Given the description of an element on the screen output the (x, y) to click on. 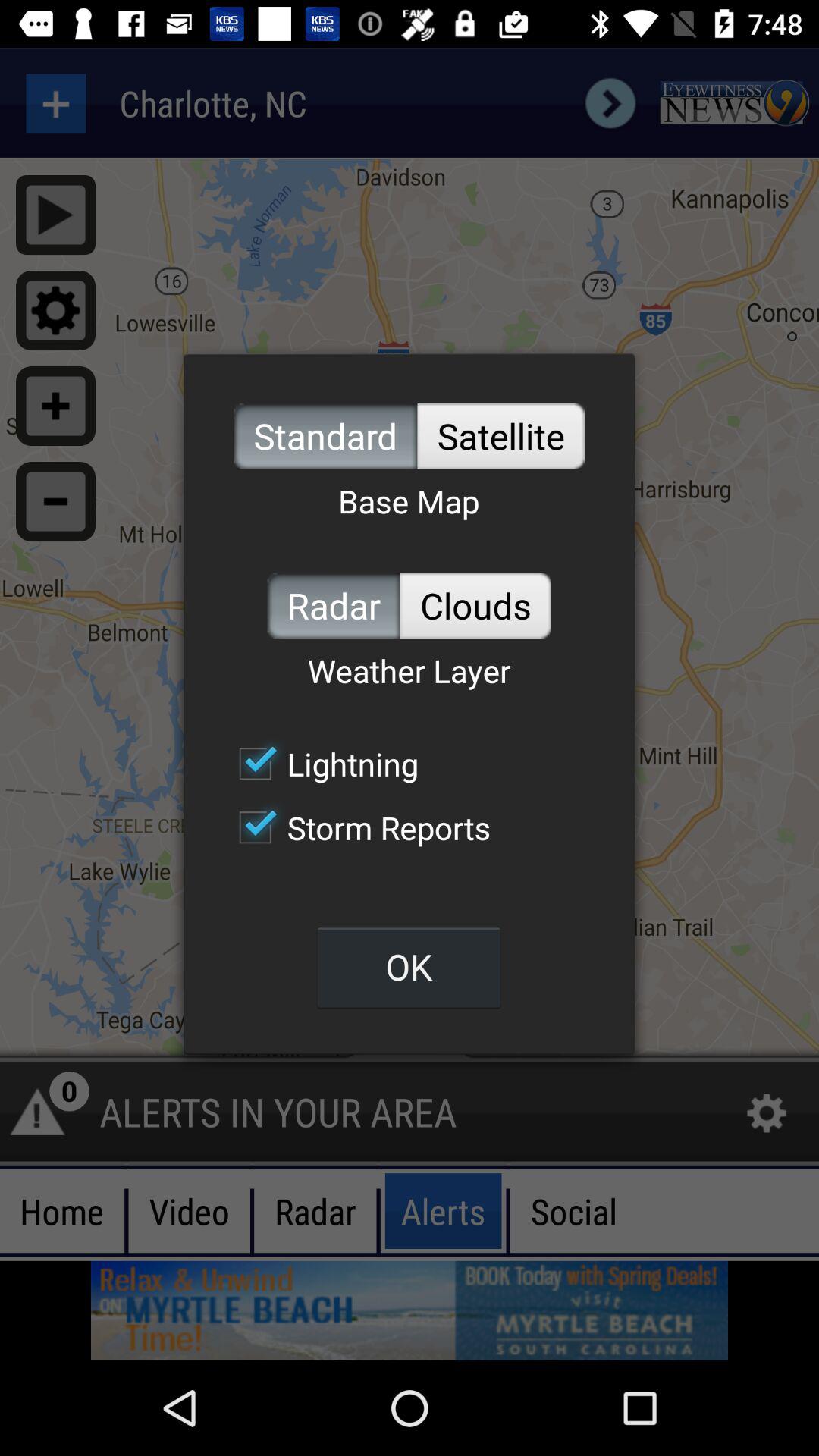
scroll until the lightning icon (320, 763)
